Given the description of an element on the screen output the (x, y) to click on. 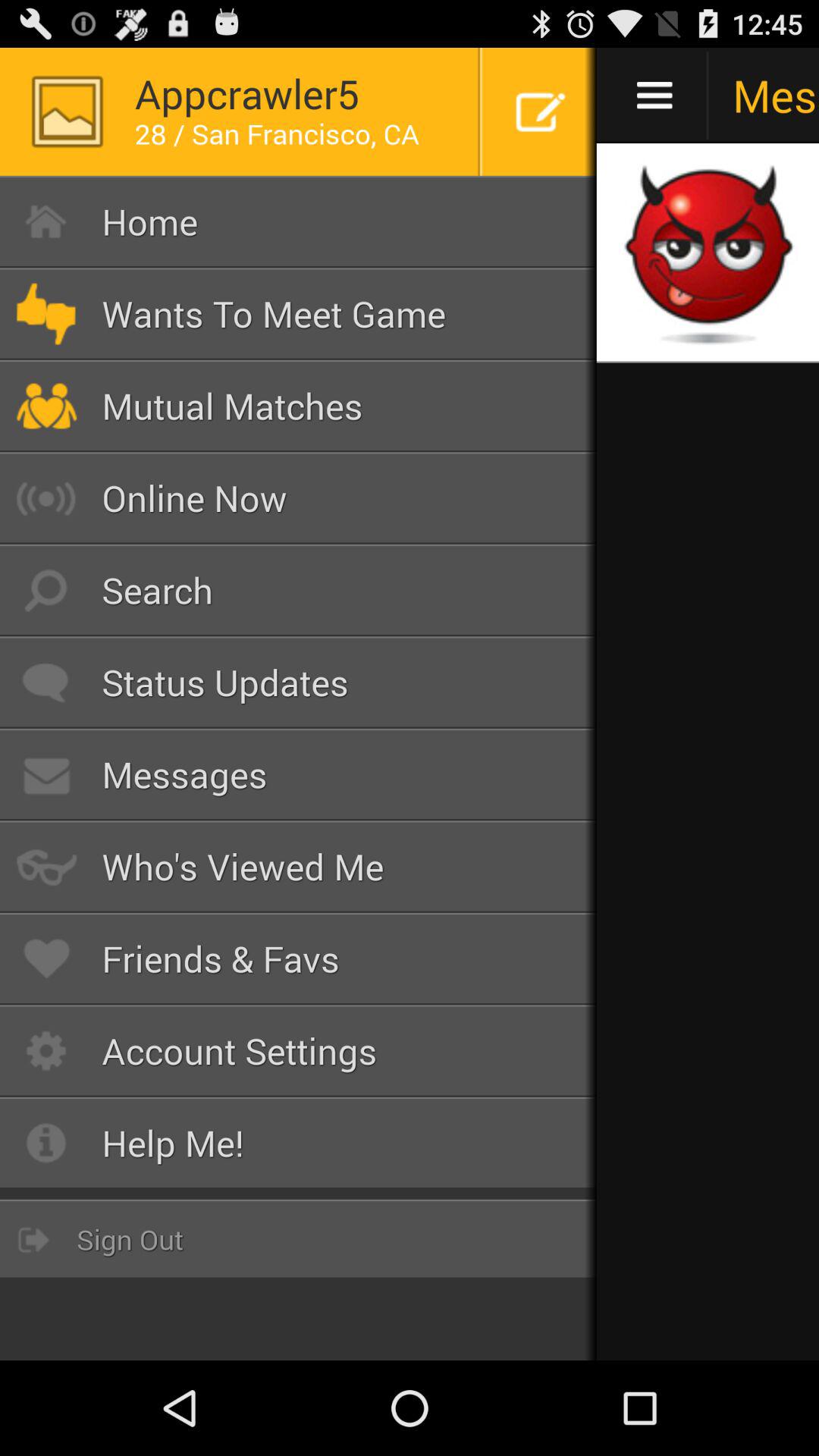
open the icon above online now button (298, 406)
